Given the description of an element on the screen output the (x, y) to click on. 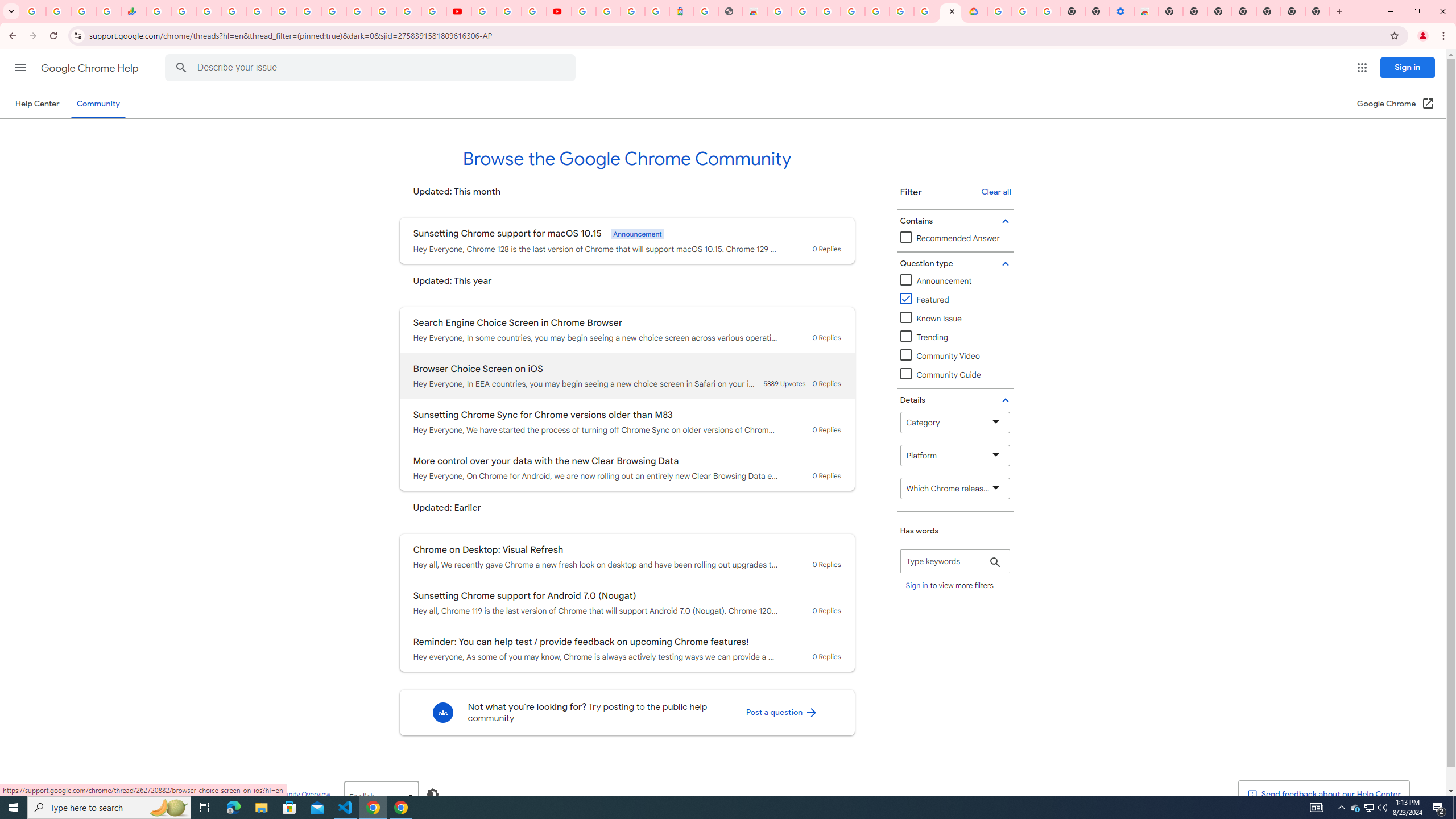
Community Policy (229, 794)
Ad Settings (827, 11)
Sign in - Google Accounts (852, 11)
Settings - Accessibility (1121, 11)
Category (954, 422)
Create your Google Account (533, 11)
 Question type filter group  (953, 263)
New Tab (1317, 11)
